Given the description of an element on the screen output the (x, y) to click on. 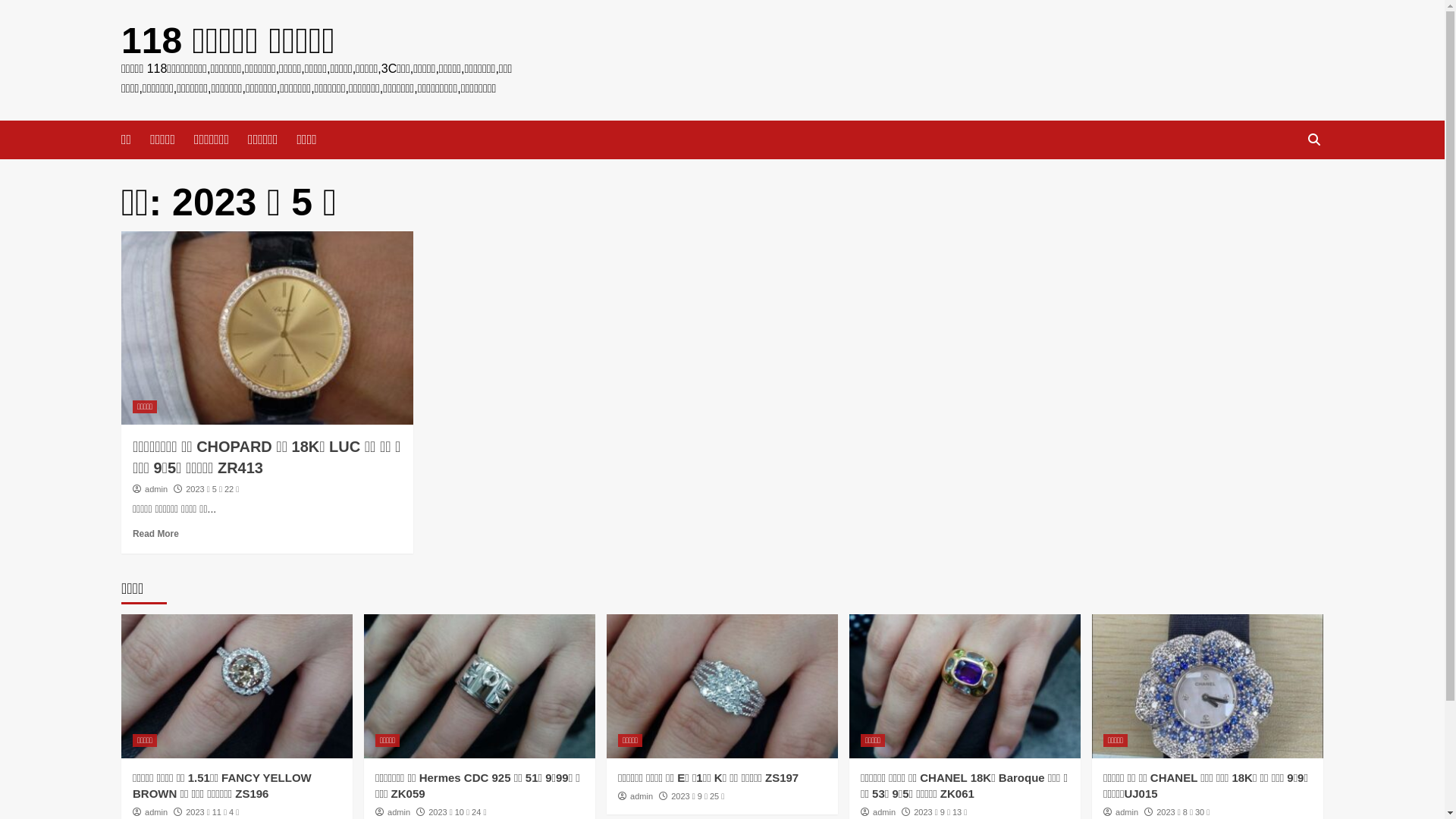
admin Element type: text (883, 811)
Read More Element type: text (155, 533)
admin Element type: text (155, 811)
admin Element type: text (641, 795)
admin Element type: text (155, 488)
admin Element type: text (398, 811)
admin Element type: text (1126, 811)
Search Element type: hover (1313, 139)
